Given the description of an element on the screen output the (x, y) to click on. 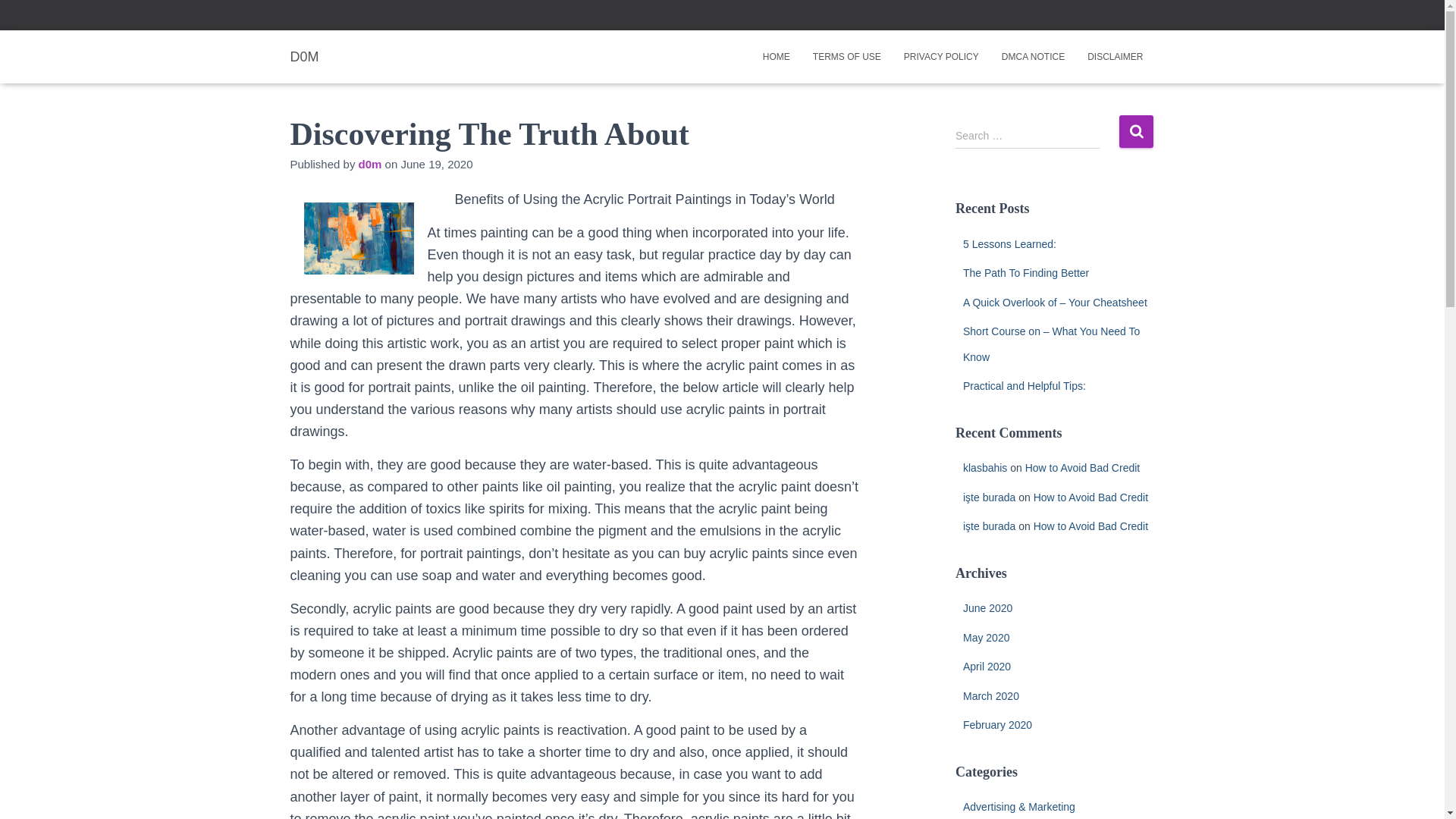
D0M (304, 56)
How to Avoid Bad Credit (1090, 526)
Privacy Policy (941, 56)
April 2020 (986, 666)
Search (1136, 131)
DISCLAIMER (1114, 56)
TERMS OF USE (847, 56)
DMCA NOTICE (1032, 56)
June 2020 (986, 607)
Search (1136, 131)
